Given the description of an element on the screen output the (x, y) to click on. 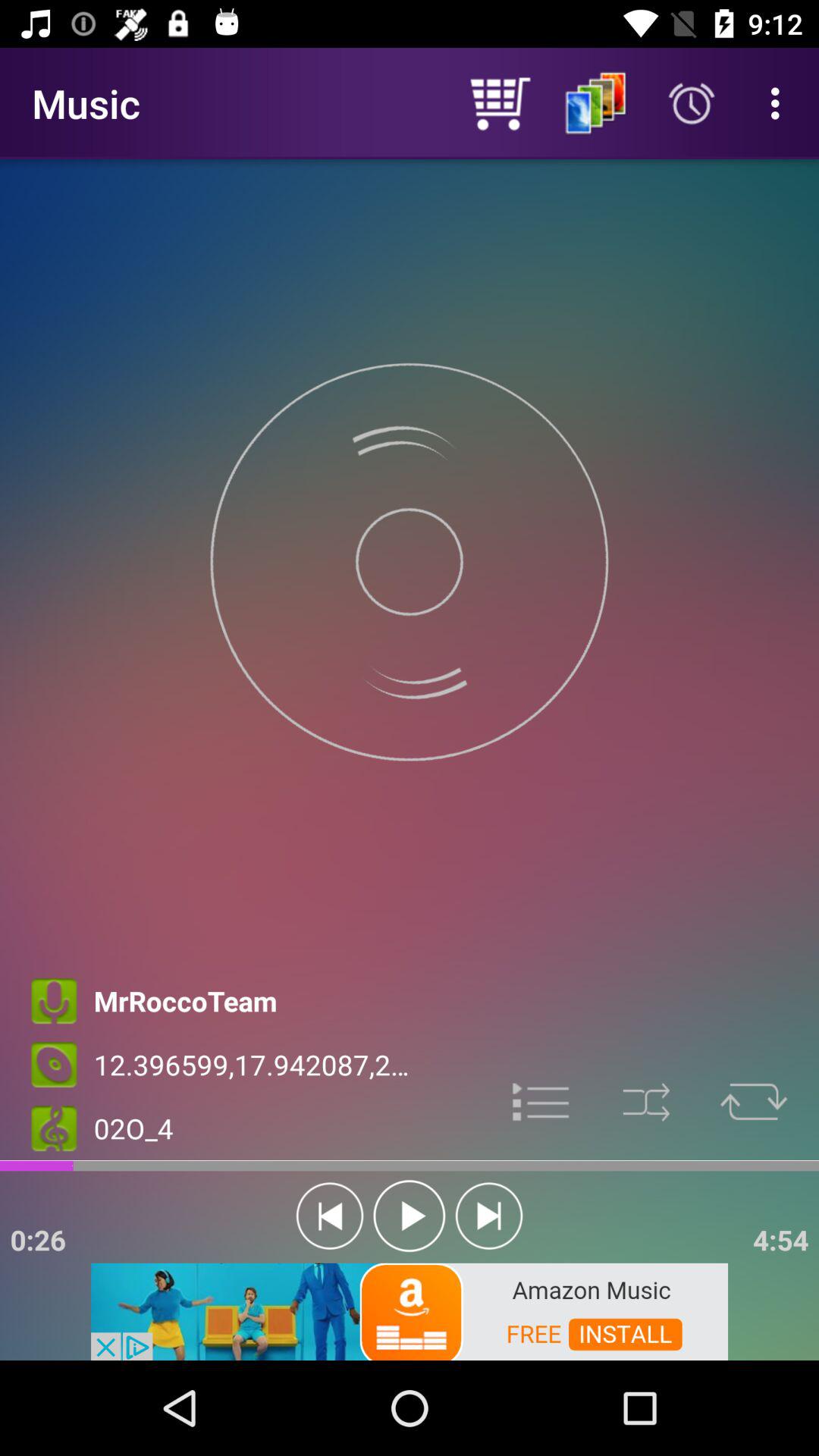
switch autoplay option (409, 1215)
